Given the description of an element on the screen output the (x, y) to click on. 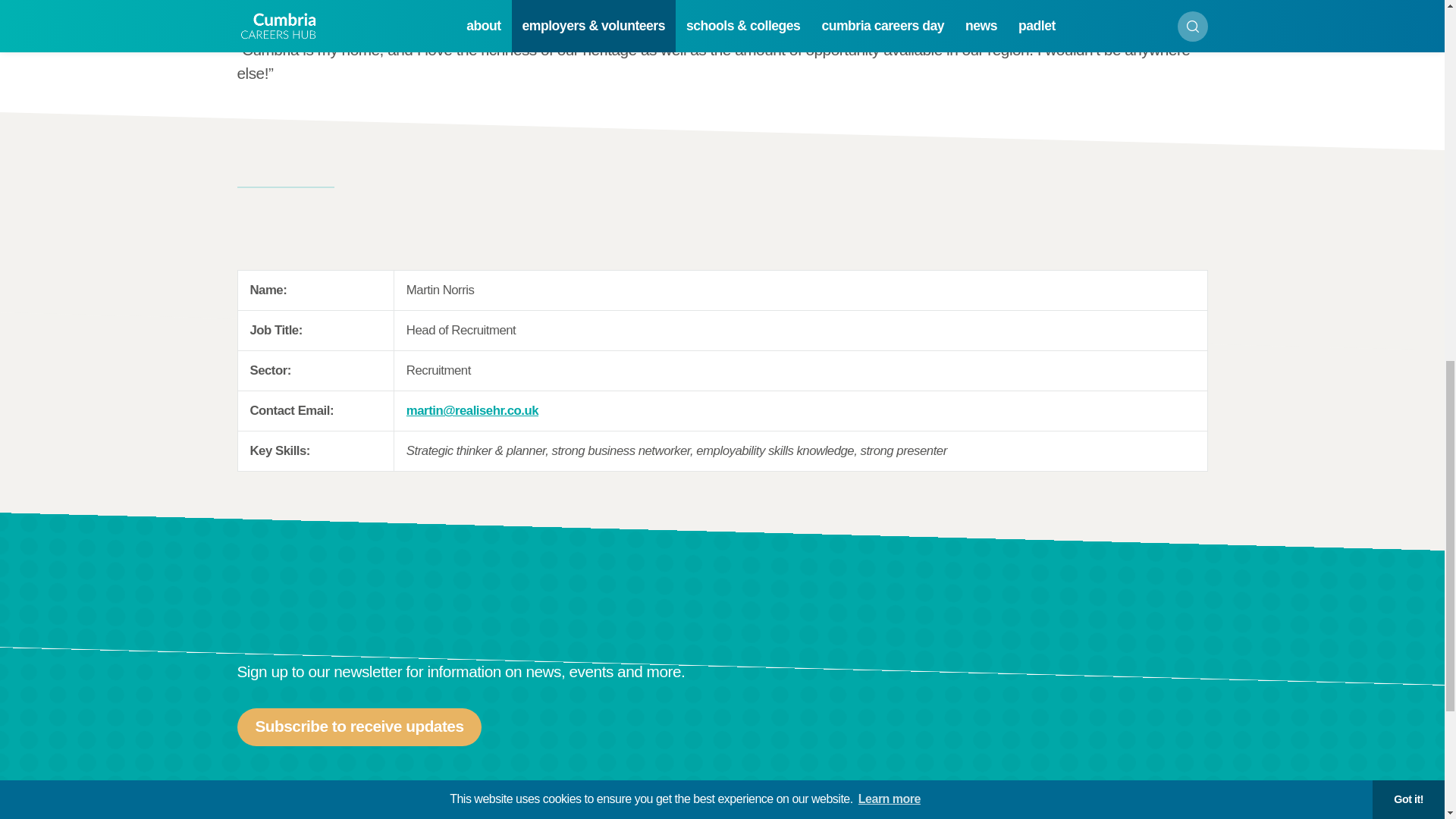
Subscribe to receive updates (358, 727)
